Given the description of an element on the screen output the (x, y) to click on. 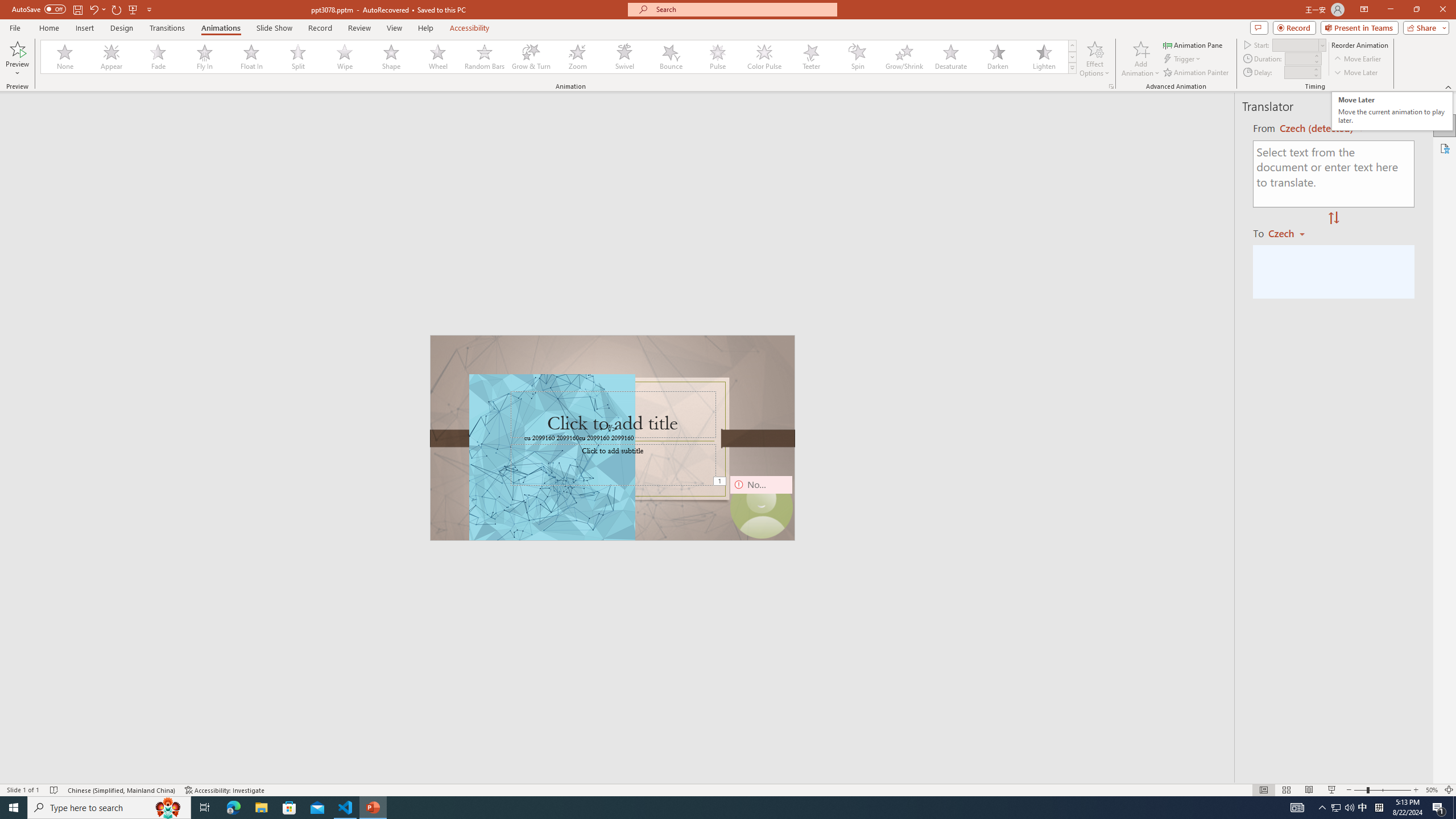
Animation Duration (1391, 111)
Spin (1298, 58)
Animation Painter (857, 56)
Appear (1196, 72)
Zoom 50% (111, 56)
Darken (1431, 790)
